Given the description of an element on the screen output the (x, y) to click on. 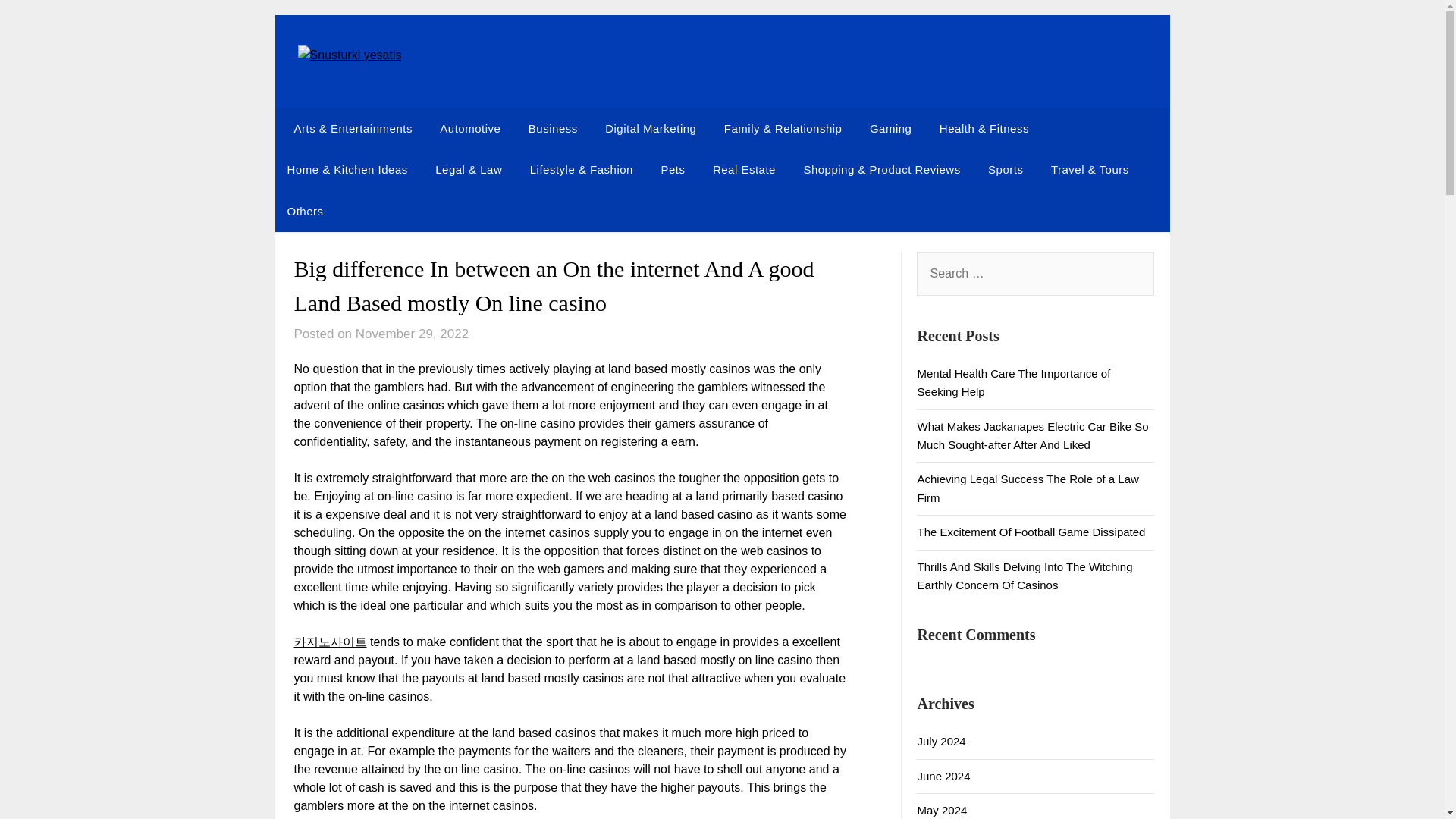
Mental Health Care The Importance of Seeking Help (1013, 382)
The Excitement Of Football Game Dissipated (1030, 531)
Achieving Legal Success The Role of a Law Firm (1027, 487)
Others (304, 210)
Search (38, 22)
Gaming (890, 128)
Real Estate (743, 169)
Pets (672, 169)
June 2024 (943, 775)
Digital Marketing (649, 128)
July 2024 (941, 740)
Sports (1005, 169)
May 2024 (941, 809)
